Given the description of an element on the screen output the (x, y) to click on. 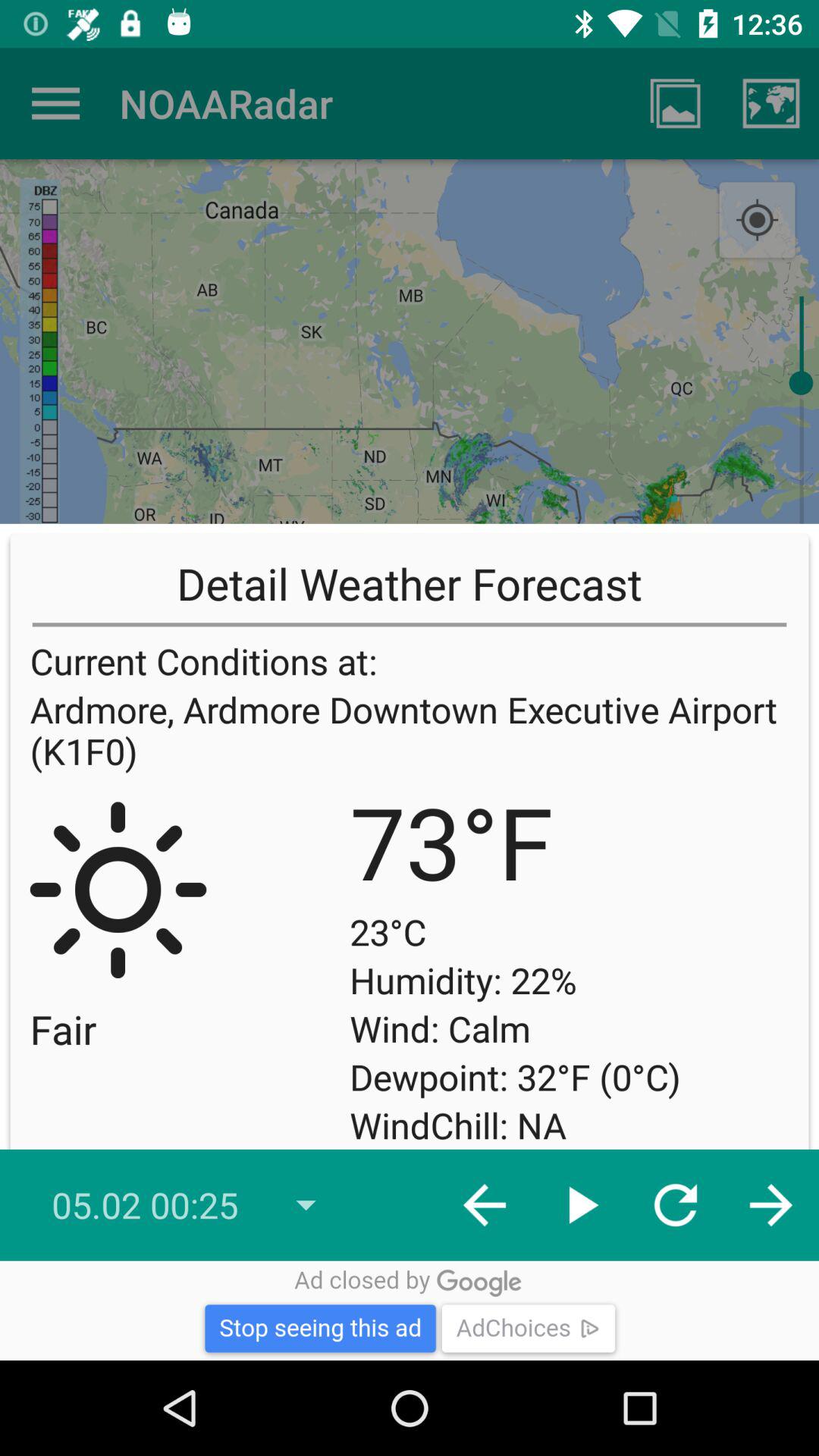
open icon below ardmore ardmore downtown app (757, 999)
